Given the description of an element on the screen output the (x, y) to click on. 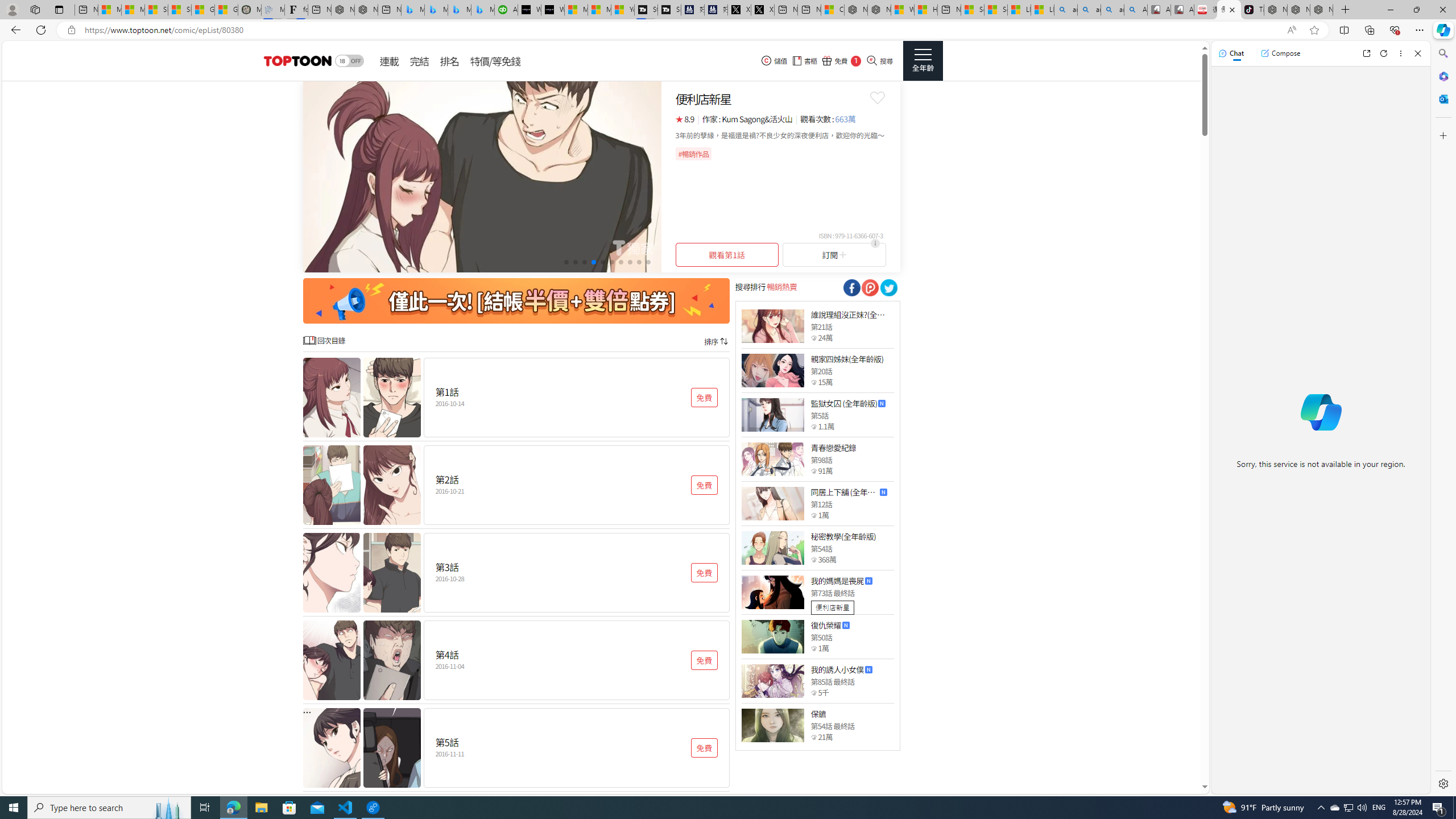
Go to slide 4 (593, 261)
Go to slide 1 (566, 261)
Class: swiper-slide (481, 176)
